Given the description of an element on the screen output the (x, y) to click on. 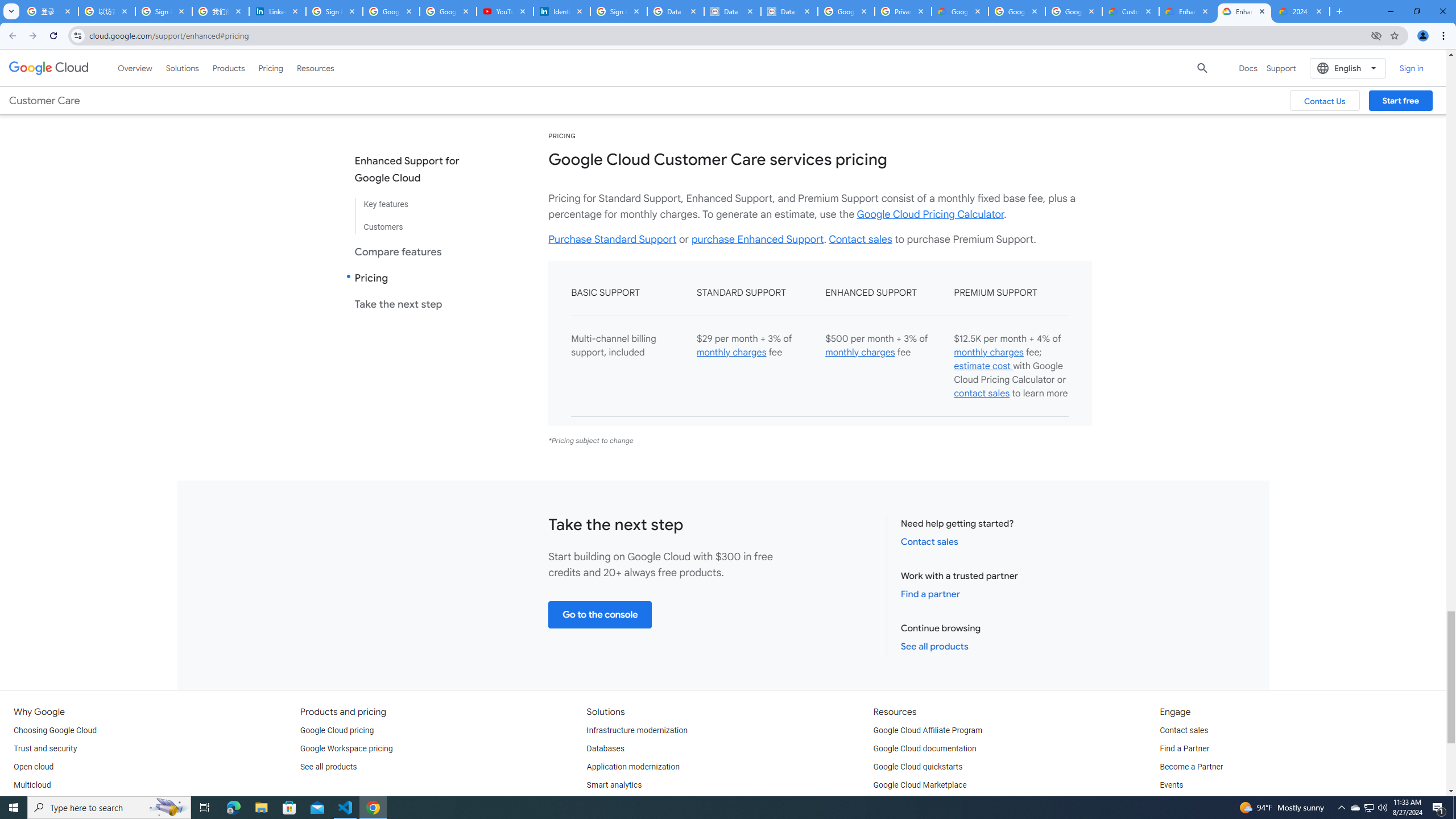
Start free (1400, 100)
Google Cloud Marketplace (919, 784)
Contact sales (1183, 730)
Customers (416, 222)
Google Cloud Affiliate Program (927, 730)
Global infrastructure (49, 802)
purchase Enhanced Support (757, 238)
Assured Support (1004, 43)
Sign in - Google Accounts (163, 11)
Take the next step (416, 303)
Multicloud (31, 784)
